Given the description of an element on the screen output the (x, y) to click on. 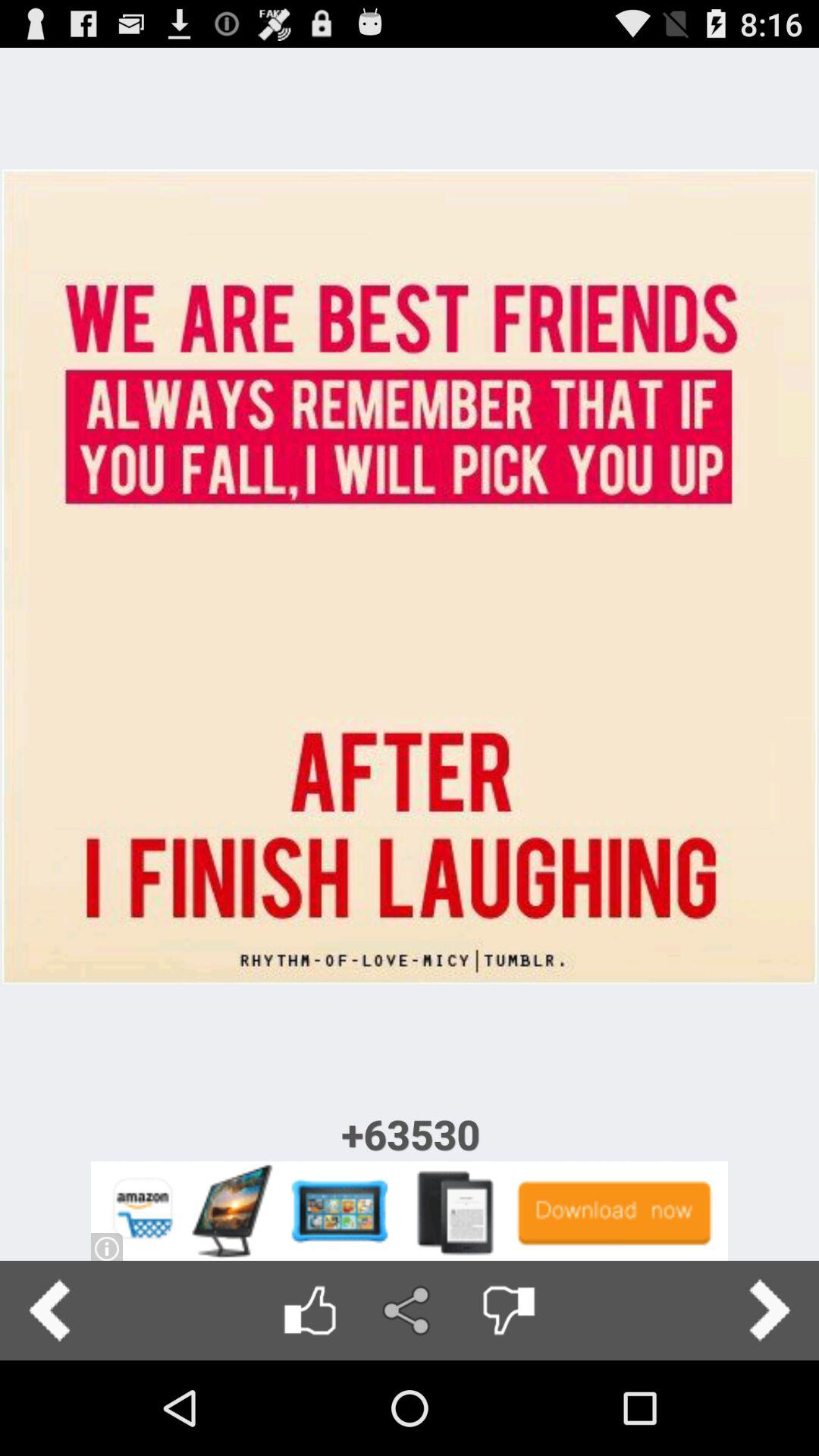
advertisement link (409, 1210)
